Given the description of an element on the screen output the (x, y) to click on. 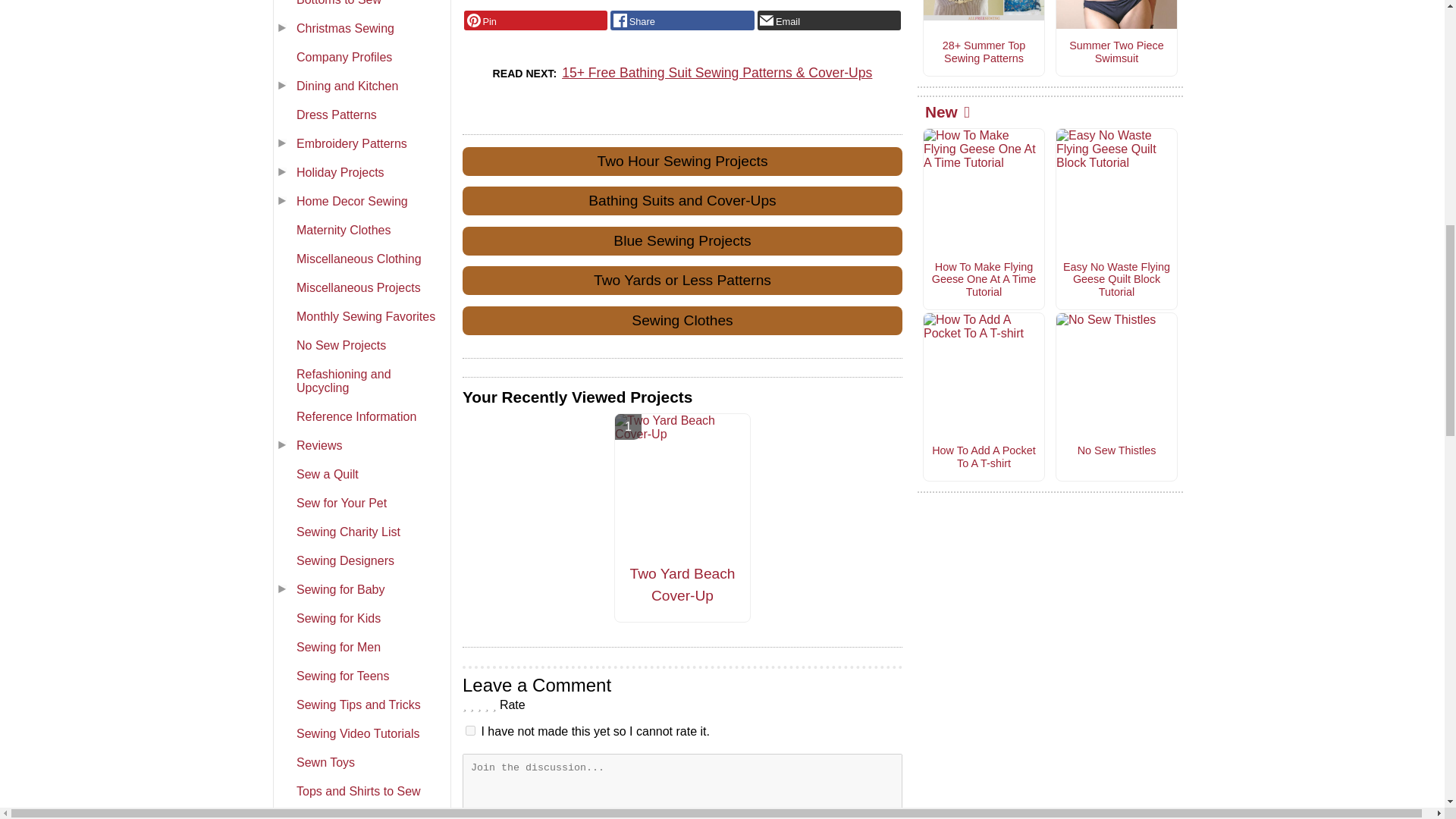
Facebook (682, 20)
Email (829, 20)
1 (470, 730)
